Given the description of an element on the screen output the (x, y) to click on. 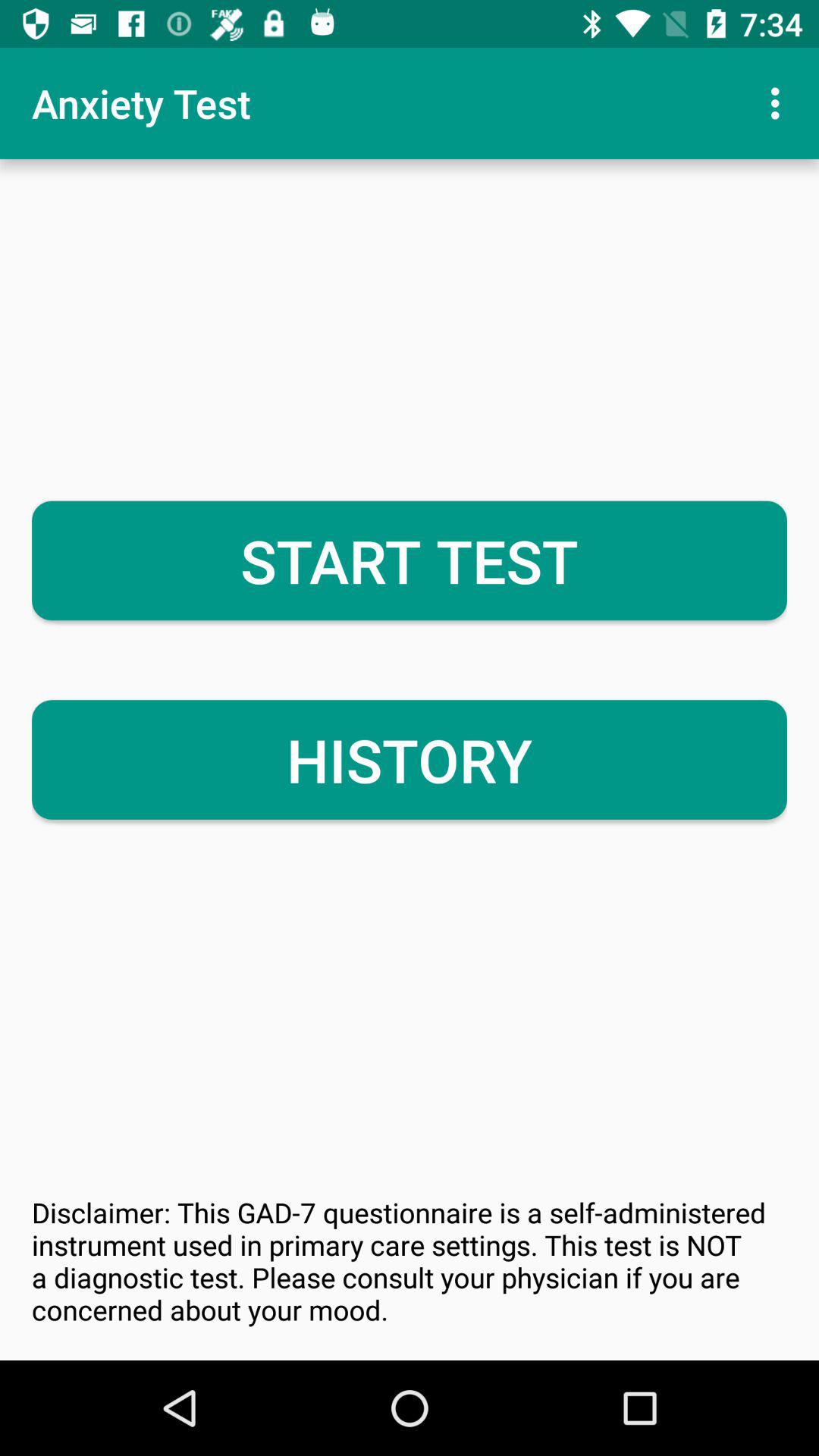
press history icon (409, 759)
